Given the description of an element on the screen output the (x, y) to click on. 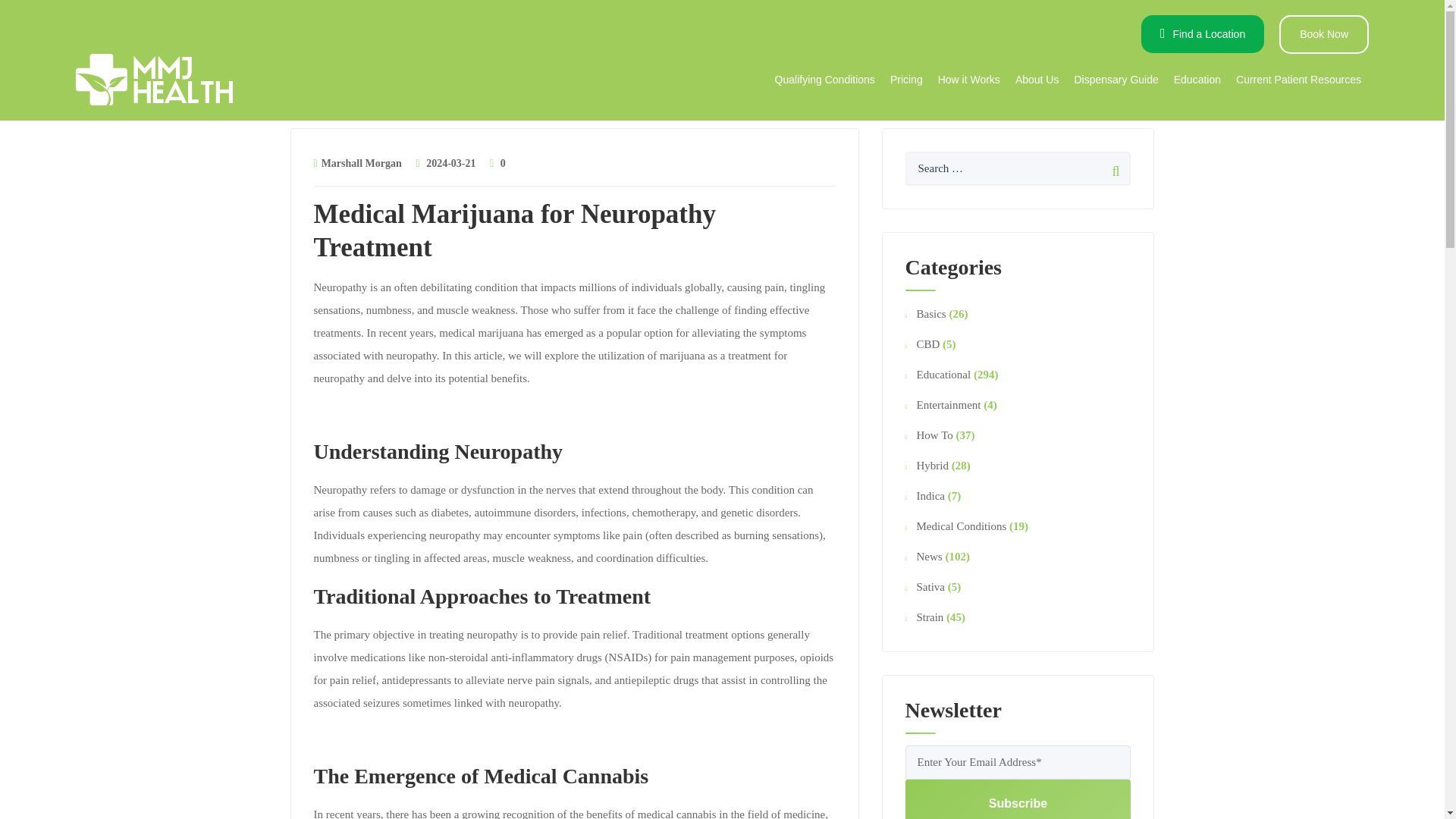
How it Works (968, 79)
Education (1197, 79)
Find a Location (1202, 34)
Current Patient Resources (1298, 79)
Book Now (1323, 34)
Qualifying Conditions (824, 79)
About Us (1037, 79)
Dispensary Guide (1115, 79)
Pricing (906, 79)
Subscribe (1018, 799)
